Given the description of an element on the screen output the (x, y) to click on. 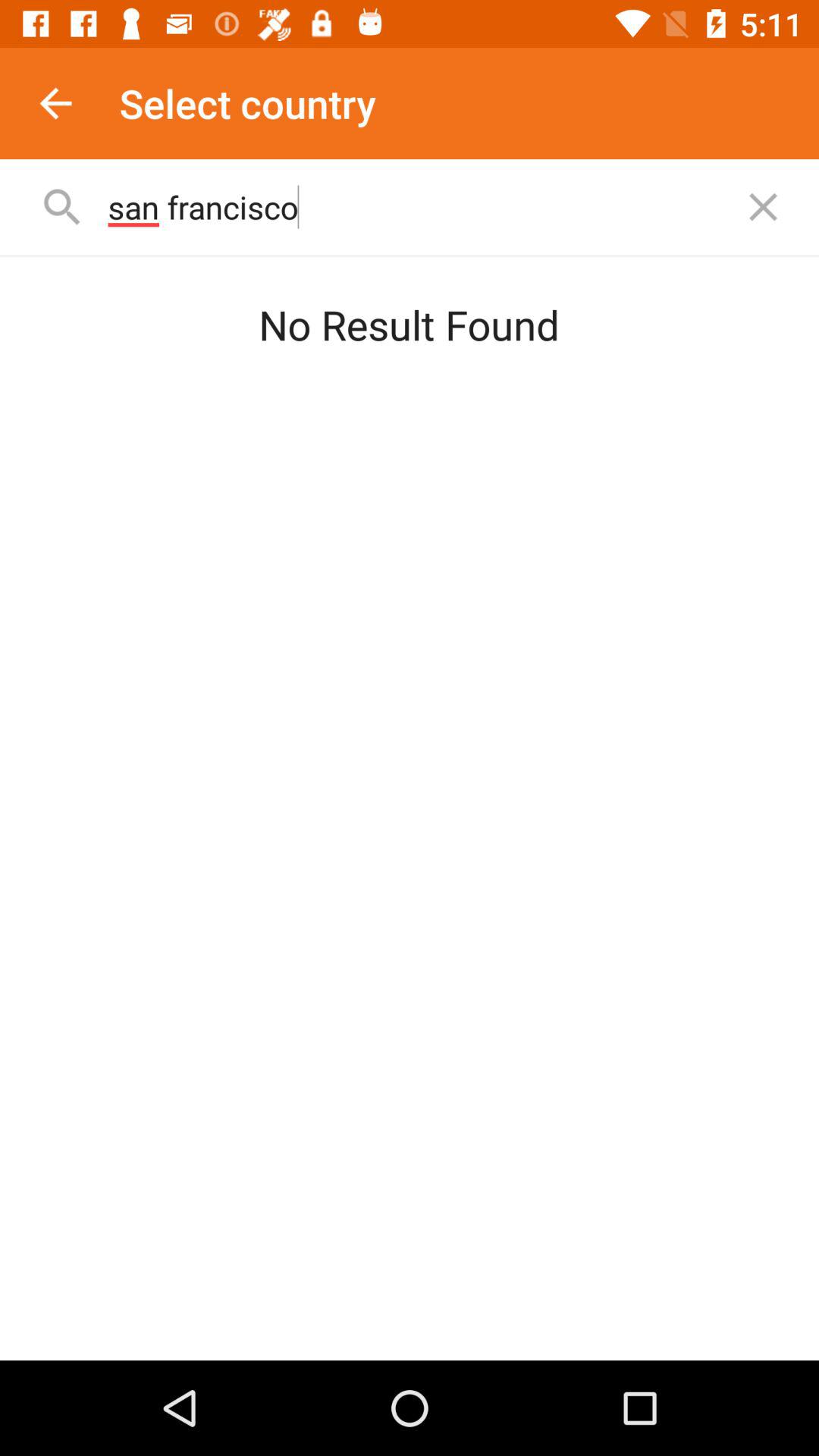
scroll until the san francisco item (412, 206)
